Given the description of an element on the screen output the (x, y) to click on. 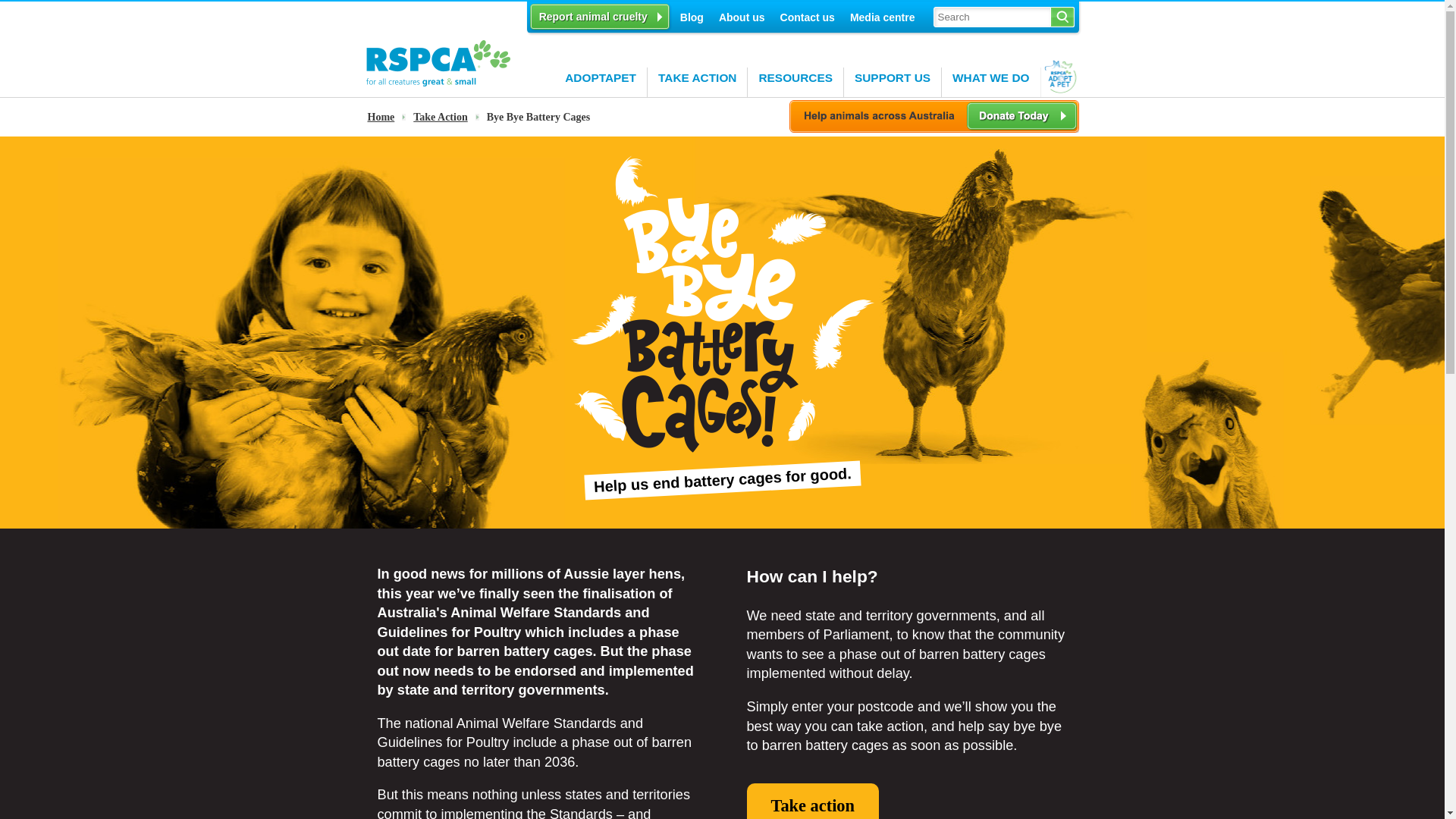
Home Element type: hover (437, 83)
TAKE ACTION Element type: text (697, 82)
Home Element type: text (386, 116)
Enter the terms you wish to search for. Element type: hover (991, 16)
Skip to main content Element type: text (48, 0)
Blog Element type: text (691, 15)
About us Element type: text (741, 15)
RESOURCES Element type: text (795, 82)
WHAT WE DO Element type: text (990, 82)
SUPPORT US Element type: text (892, 82)
ADOPTAPET Element type: text (600, 82)
Search Element type: text (1062, 16)
Take Action Element type: text (445, 116)
Contact us Element type: text (807, 15)
Report animal cruelty Element type: text (599, 16)
Media centre Element type: text (882, 15)
